Given the description of an element on the screen output the (x, y) to click on. 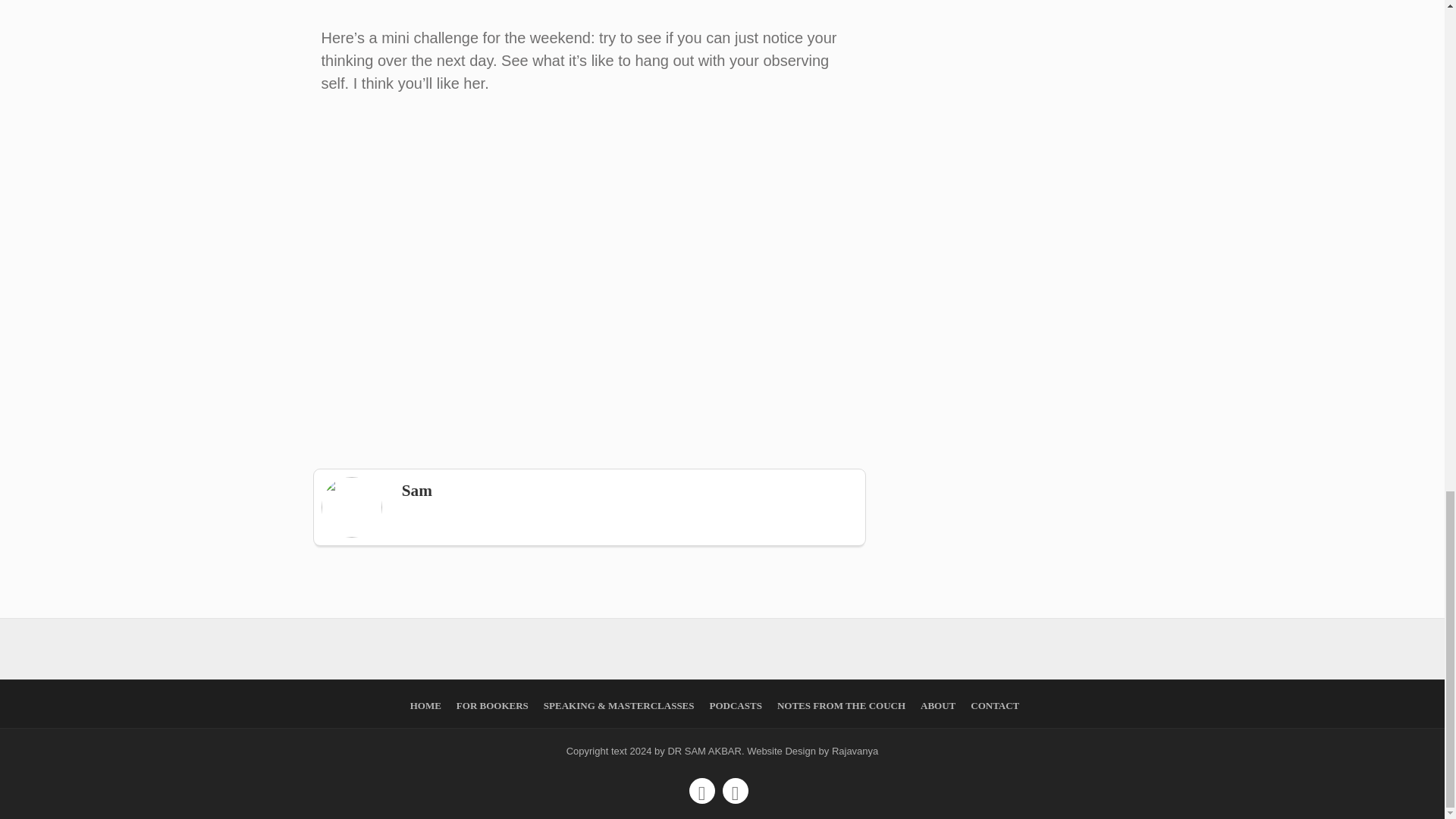
FOR BOOKERS (492, 705)
PODCASTS (735, 705)
CONTACT (995, 705)
HOME (425, 705)
NOTES FROM THE COUCH (841, 705)
ABOUT (937, 705)
Website Design by Rajavanya (811, 750)
